Given the description of an element on the screen output the (x, y) to click on. 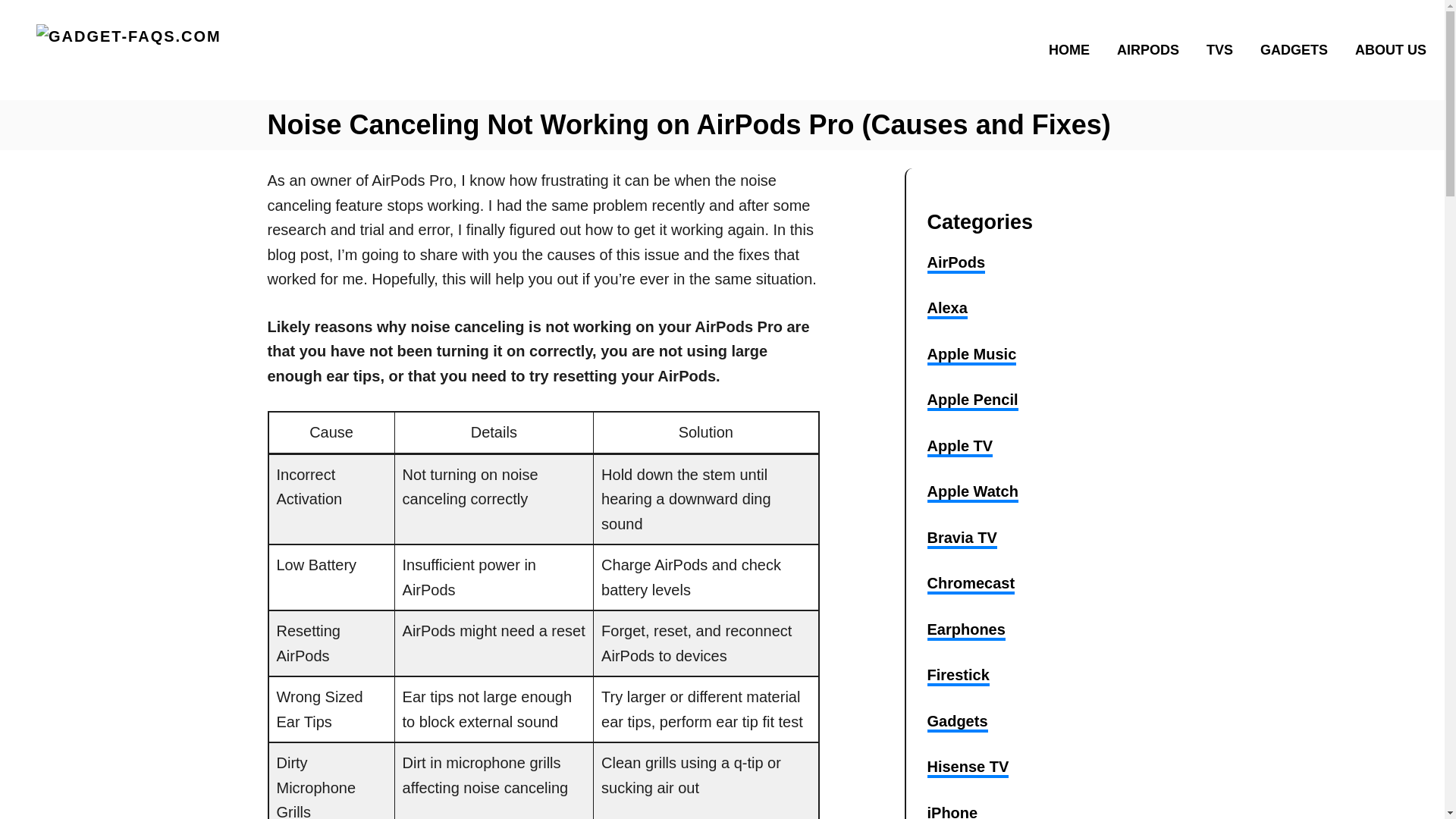
ABOUT US (1385, 49)
Earphones (965, 630)
Chromecast (970, 584)
Firestick (957, 676)
Apple Pencil (971, 401)
AIRPODS (1152, 49)
HOME (1073, 49)
Apple TV (959, 447)
Apple Watch (971, 492)
TVS (1223, 49)
GADGETS (1297, 49)
Bravia TV (960, 538)
Apple Music (971, 355)
Hisense TV (967, 768)
AirPods (955, 263)
